Given the description of an element on the screen output the (x, y) to click on. 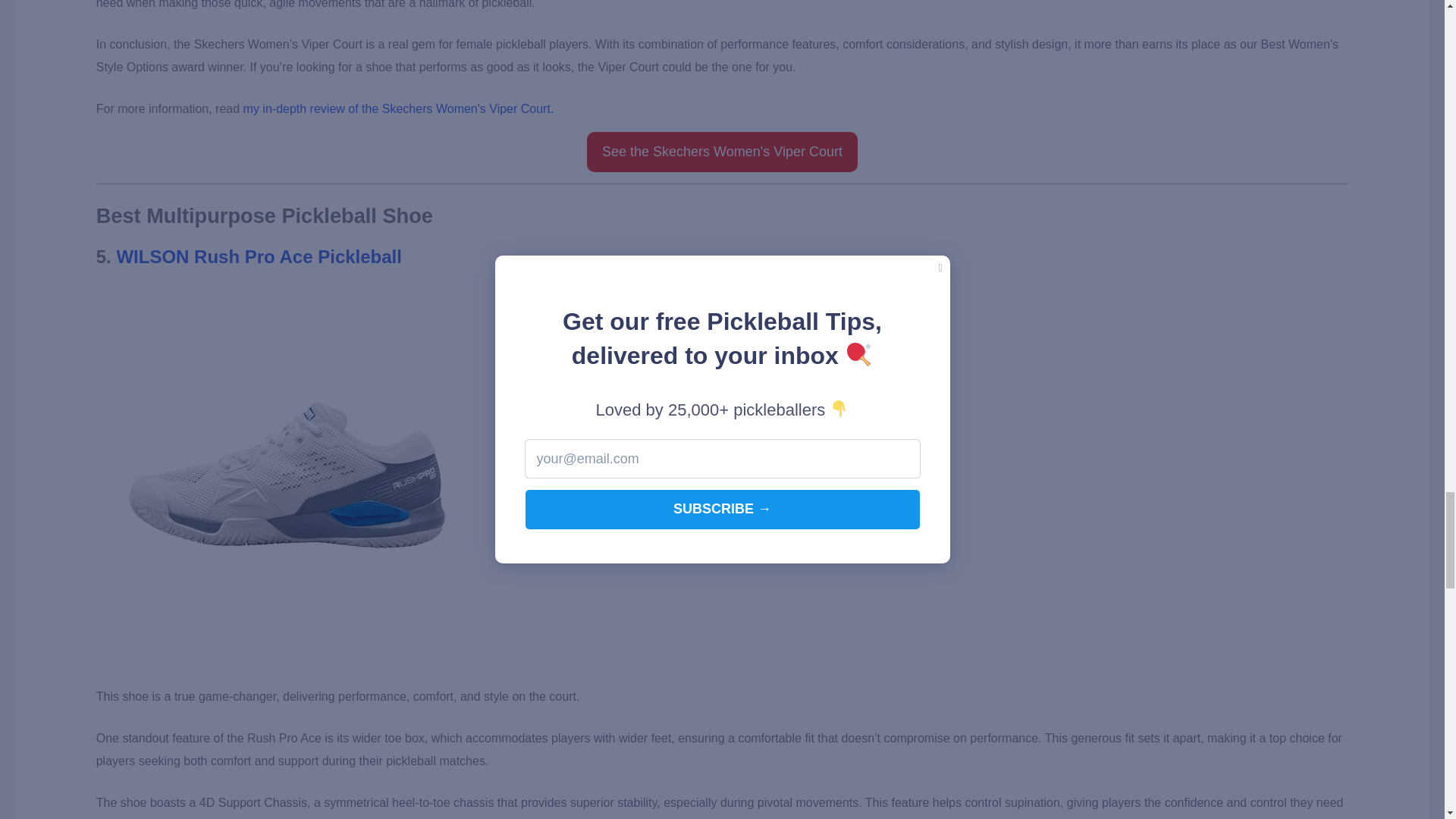
WILSON Rush Pro Ace Pickleball (258, 256)
my in-depth review of the Skechers Women's Viper Court. (398, 108)
See the Skechers Women's Viper Court (721, 151)
